Given the description of an element on the screen output the (x, y) to click on. 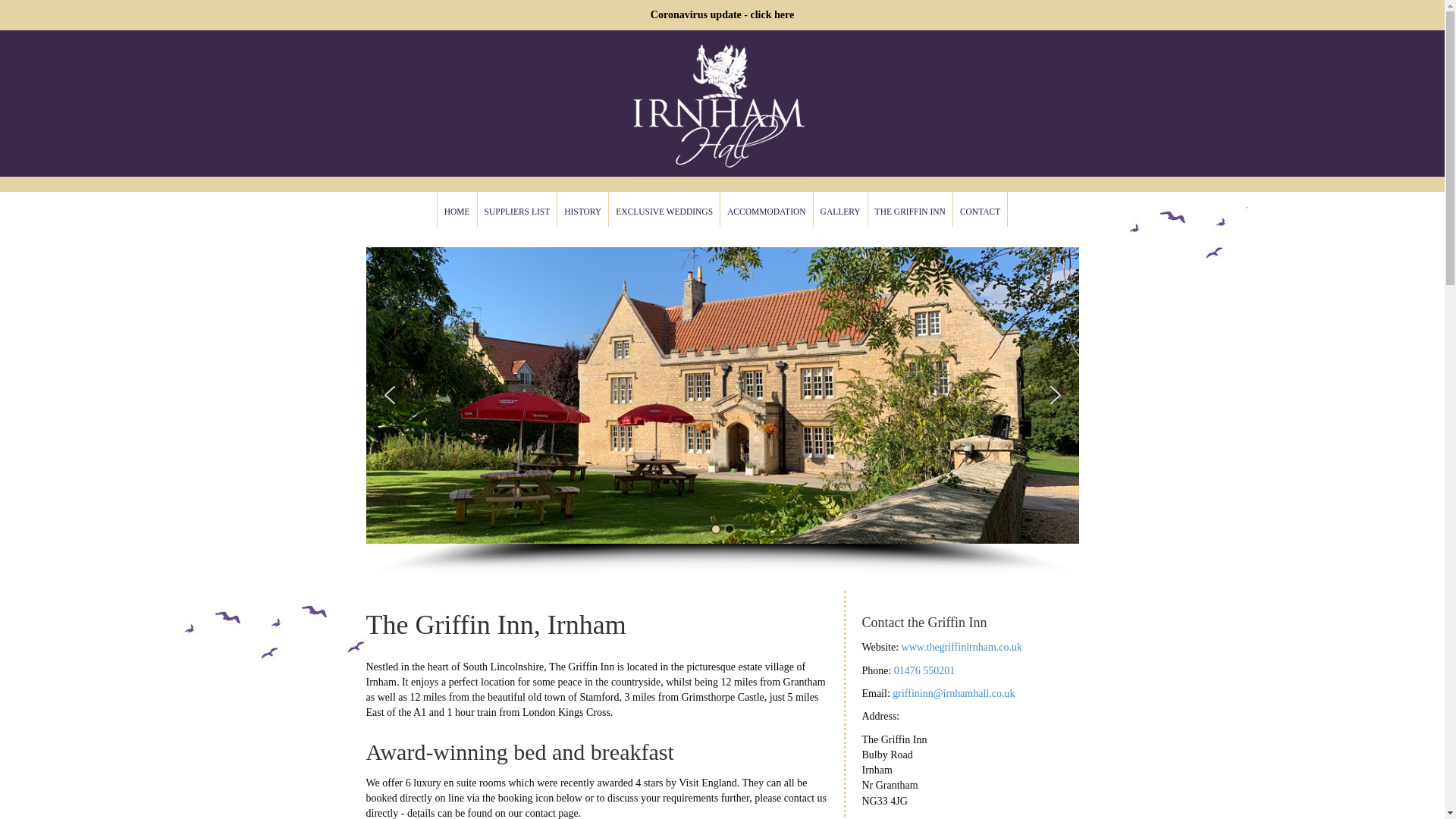
THE GRIFFIN INN (909, 208)
HOME (457, 208)
SUPPLIERS LIST (517, 208)
Coronavirus update - click here (721, 14)
ACCOMMODATION (766, 208)
CONTACT (980, 208)
EXCLUSIVE WEDDINGS (663, 208)
GALLERY (840, 208)
HISTORY (582, 208)
